Given the description of an element on the screen output the (x, y) to click on. 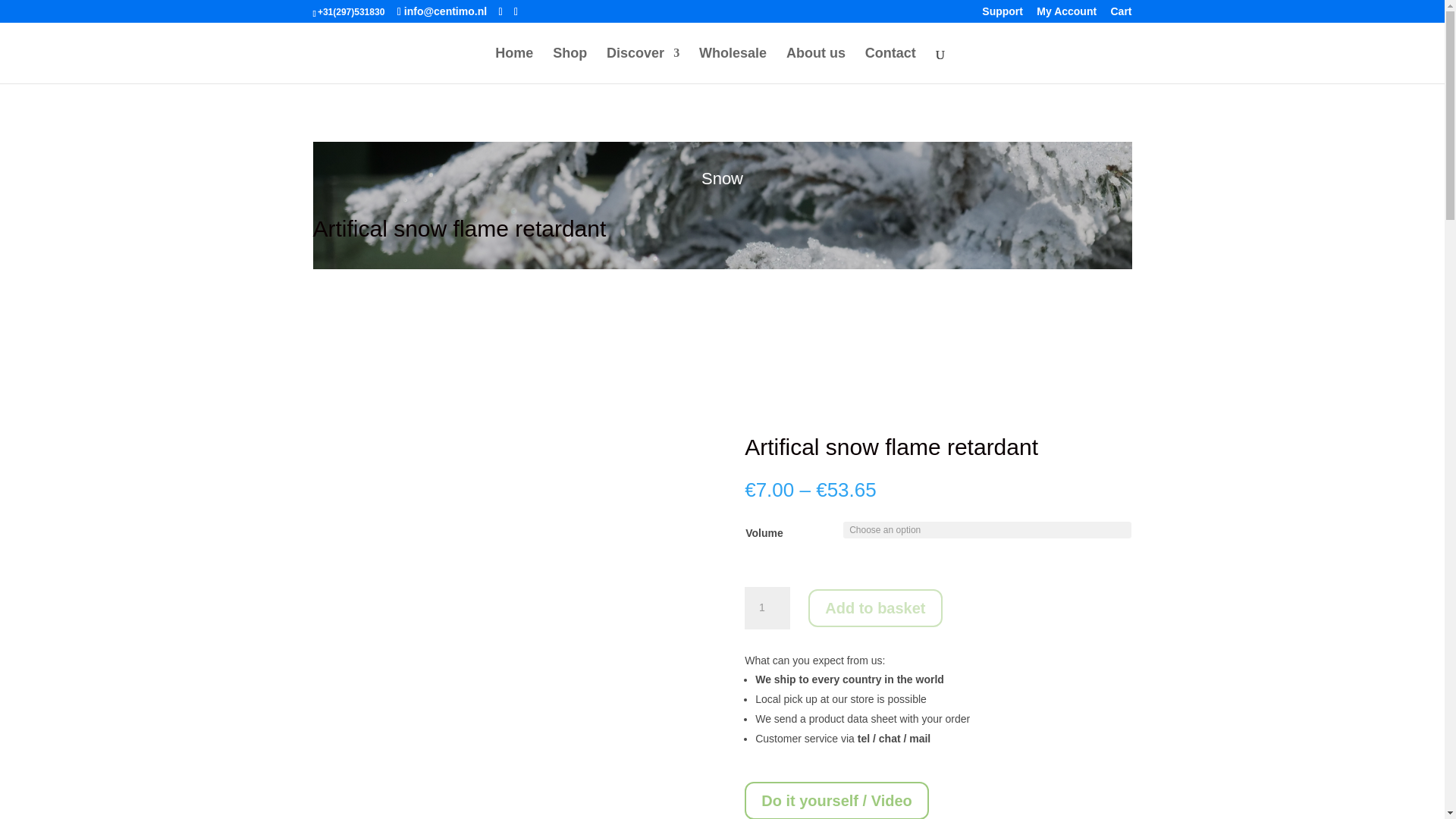
Add to basket (875, 607)
Wholesale (732, 65)
1 (767, 608)
Snow (721, 178)
Shop (569, 65)
Contact (889, 65)
Home (513, 65)
My Account (1066, 15)
About us (815, 65)
Support (1002, 15)
